Given the description of an element on the screen output the (x, y) to click on. 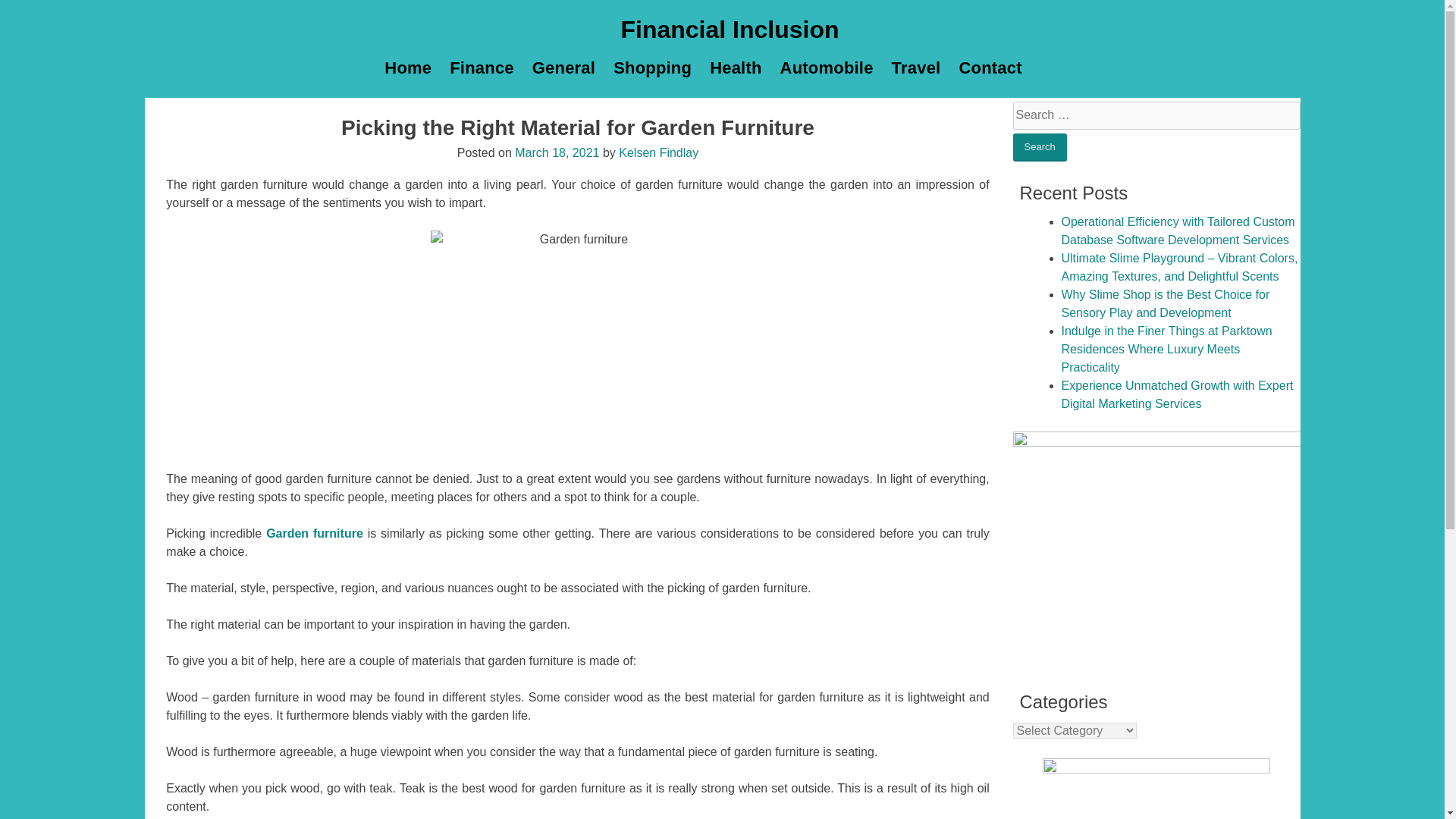
Search (1040, 147)
Travel (916, 68)
Search (1040, 147)
March 18, 2021 (556, 152)
Automobile (826, 68)
Financial Inclusion (729, 29)
Garden furniture (314, 533)
Shopping (652, 68)
Health (735, 68)
Finance (481, 68)
General (563, 68)
